Given the description of an element on the screen output the (x, y) to click on. 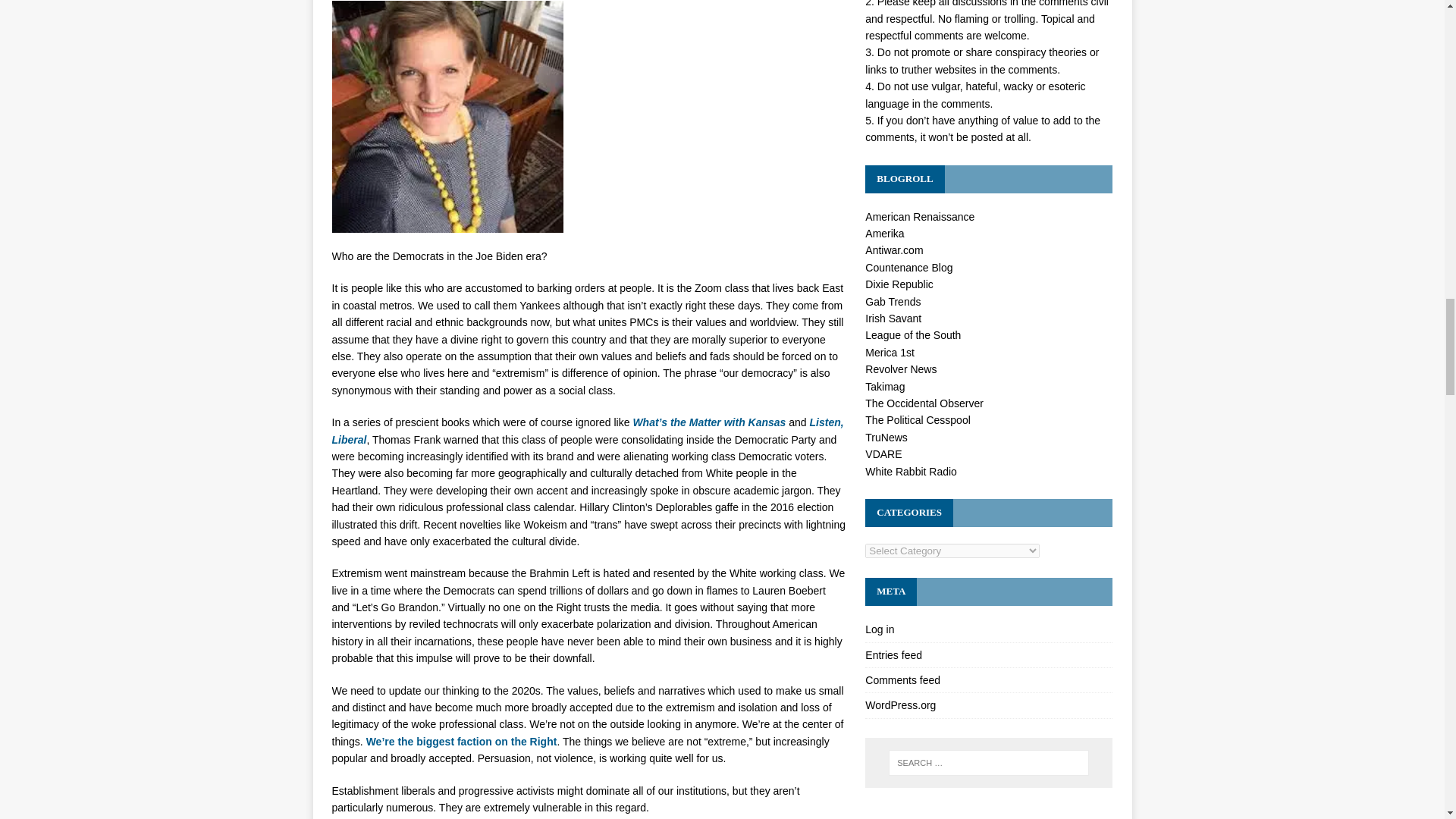
Listen, Liberal (587, 430)
